Given the description of an element on the screen output the (x, y) to click on. 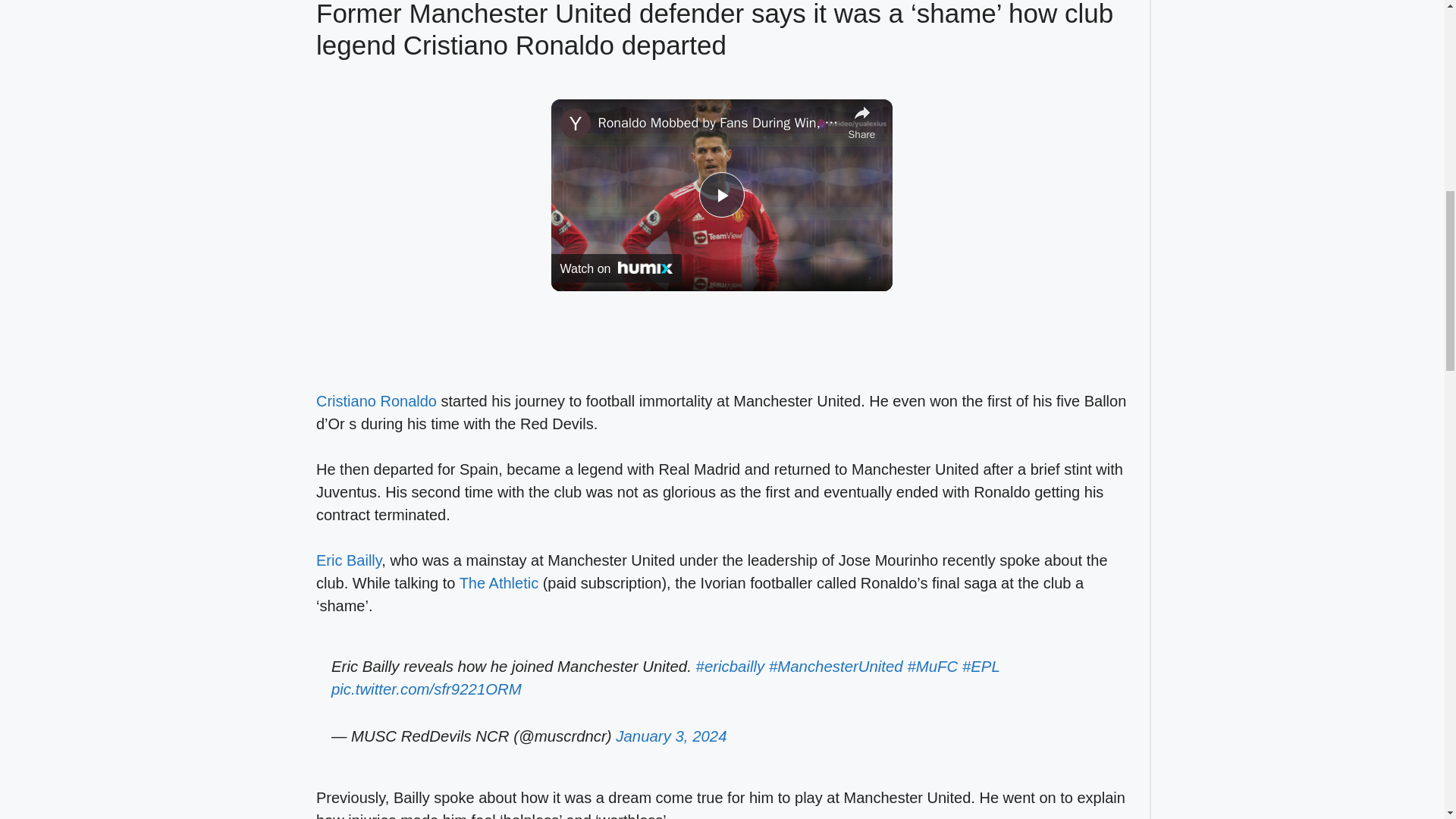
Play Video (721, 194)
